Given the description of an element on the screen output the (x, y) to click on. 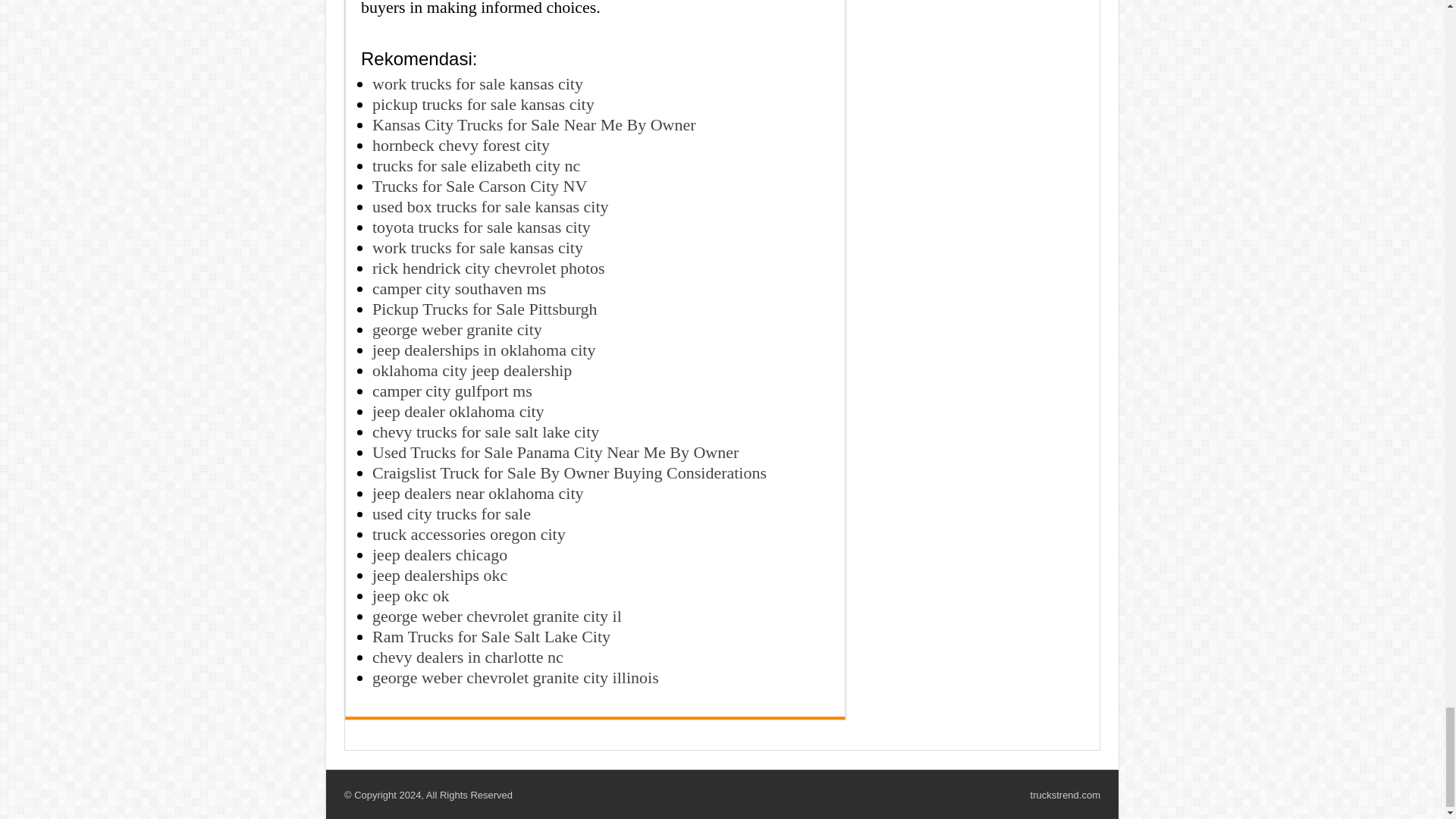
work trucks for sale kansas city (477, 83)
pickup trucks for sale kansas city (483, 104)
used box trucks for sale kansas city (490, 206)
Trucks for Sale Carson City NV (479, 185)
hornbeck chevy forest city (461, 144)
Kansas City Trucks for Sale Near Me By Owner (533, 124)
trucks for sale elizabeth city nc (475, 165)
